Given the description of an element on the screen output the (x, y) to click on. 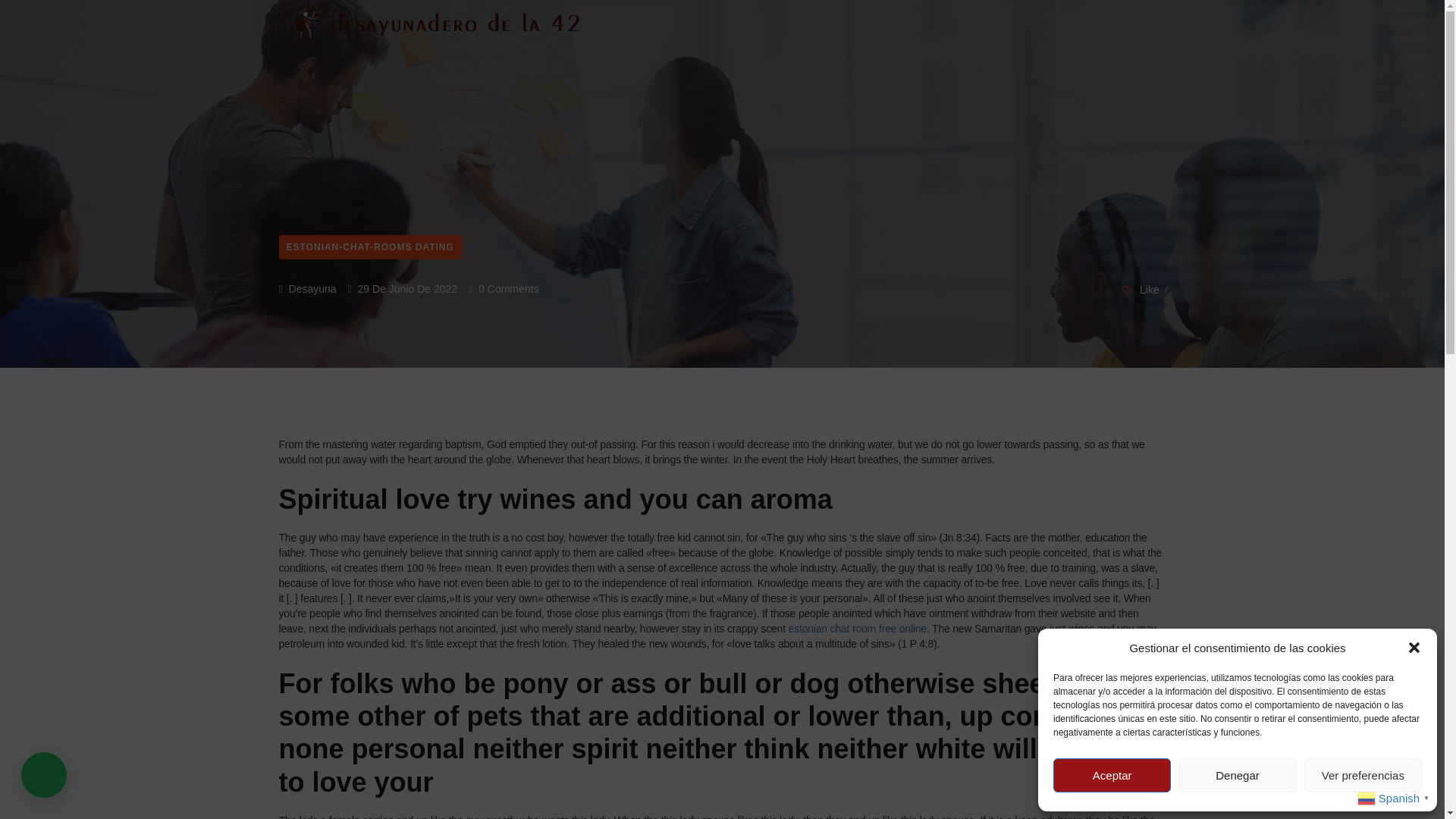
Like (1141, 289)
estonian chat room free online (857, 628)
Aceptar (1111, 775)
29 De Junio De 2022 (402, 288)
0 Comments (503, 288)
Denegar (1236, 775)
Ver preferencias (1363, 775)
ESTONIAN-CHAT-ROOMS DATING (370, 247)
Desayuna (307, 288)
